Given the description of an element on the screen output the (x, y) to click on. 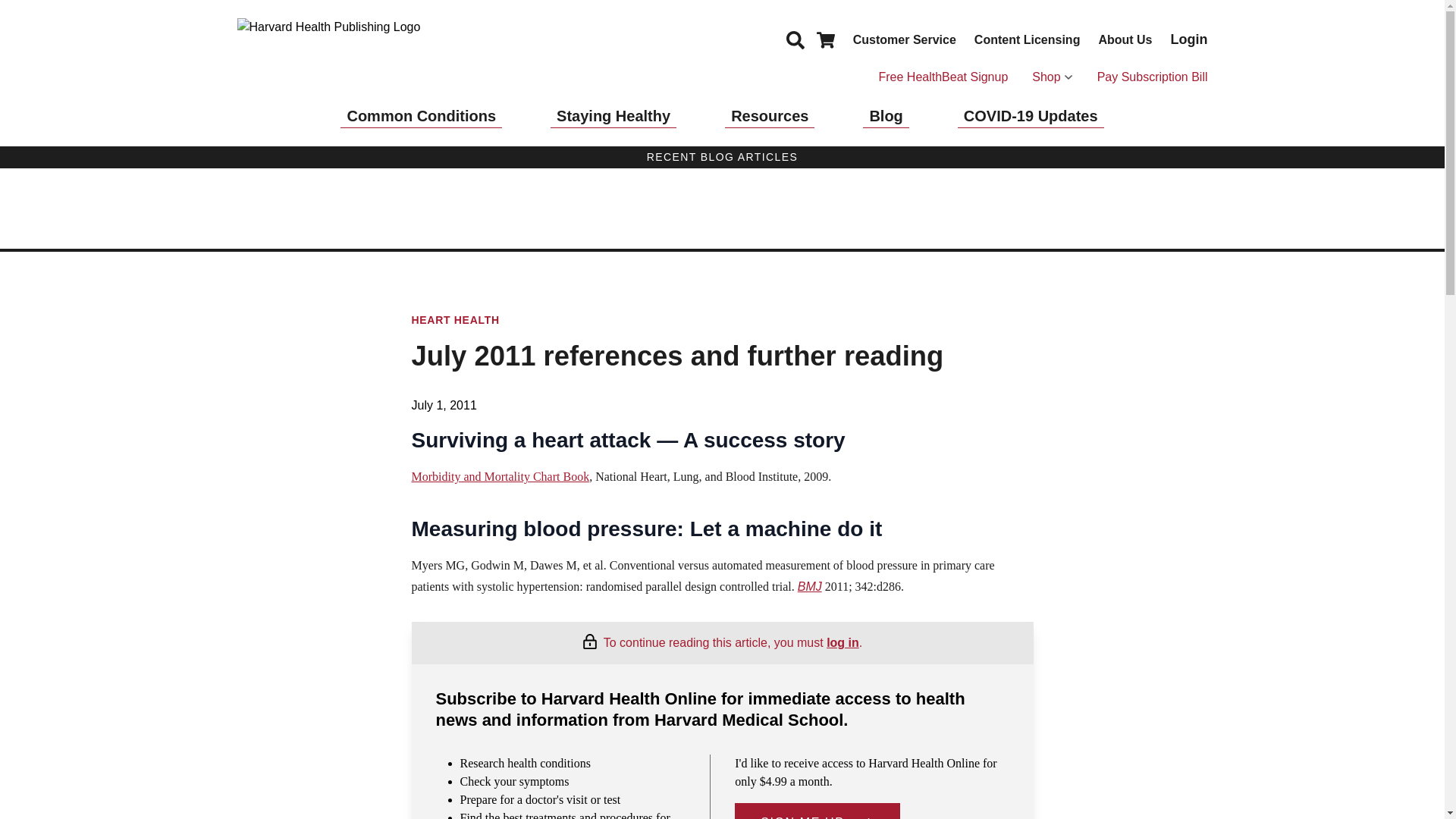
Shop (1051, 76)
Pay Subscription Bill (1152, 76)
Harvard Health Publishing (349, 52)
About Us (1124, 39)
Common Conditions (421, 115)
Shopping Cart (825, 39)
Customer Service (904, 39)
Free HealthBeat Signup (942, 76)
Content Licensing (1027, 39)
Staying Healthy (613, 115)
